Given the description of an element on the screen output the (x, y) to click on. 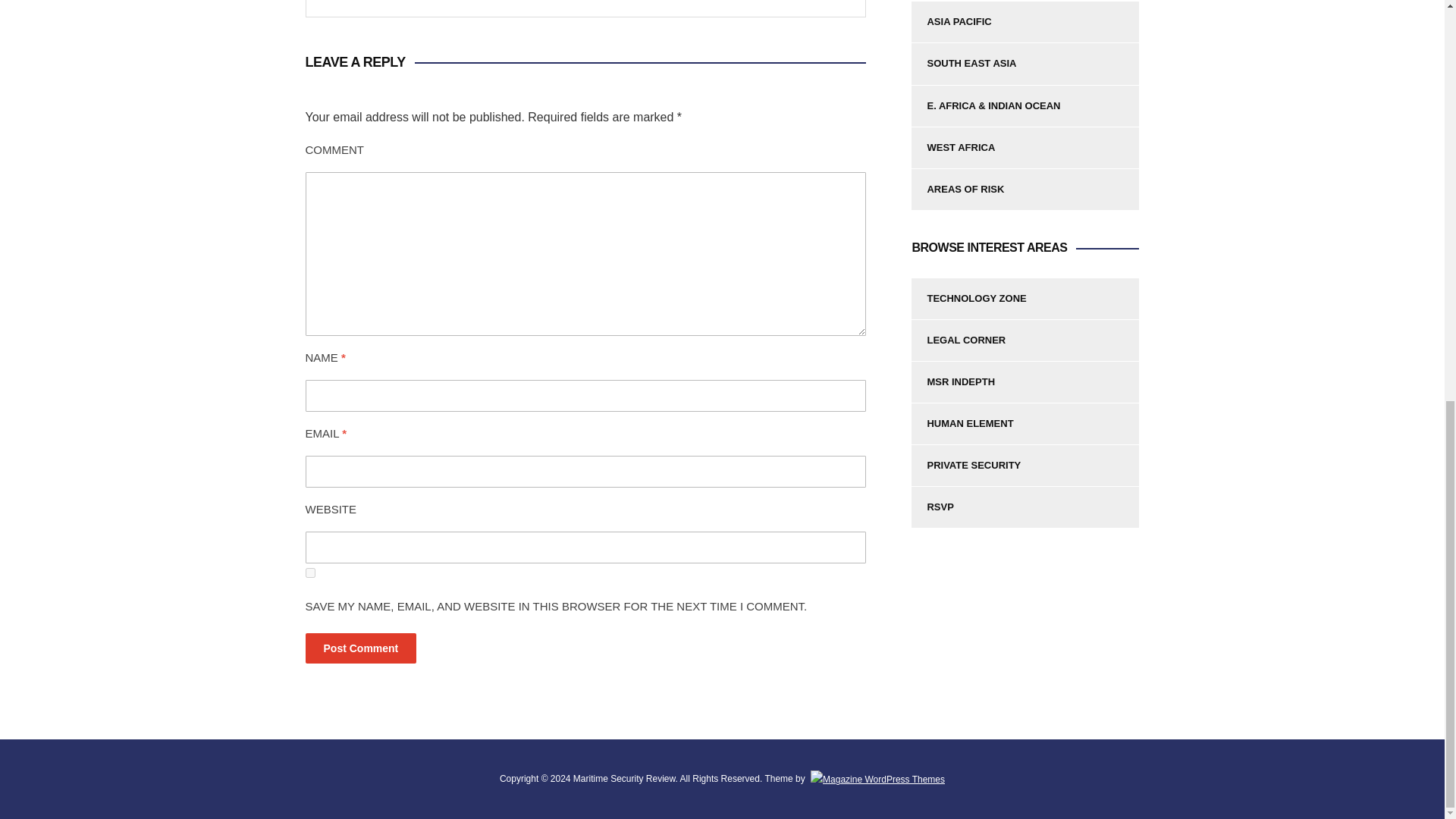
yes (309, 573)
Free WordPress Themes (876, 778)
Post Comment (360, 648)
